Given the description of an element on the screen output the (x, y) to click on. 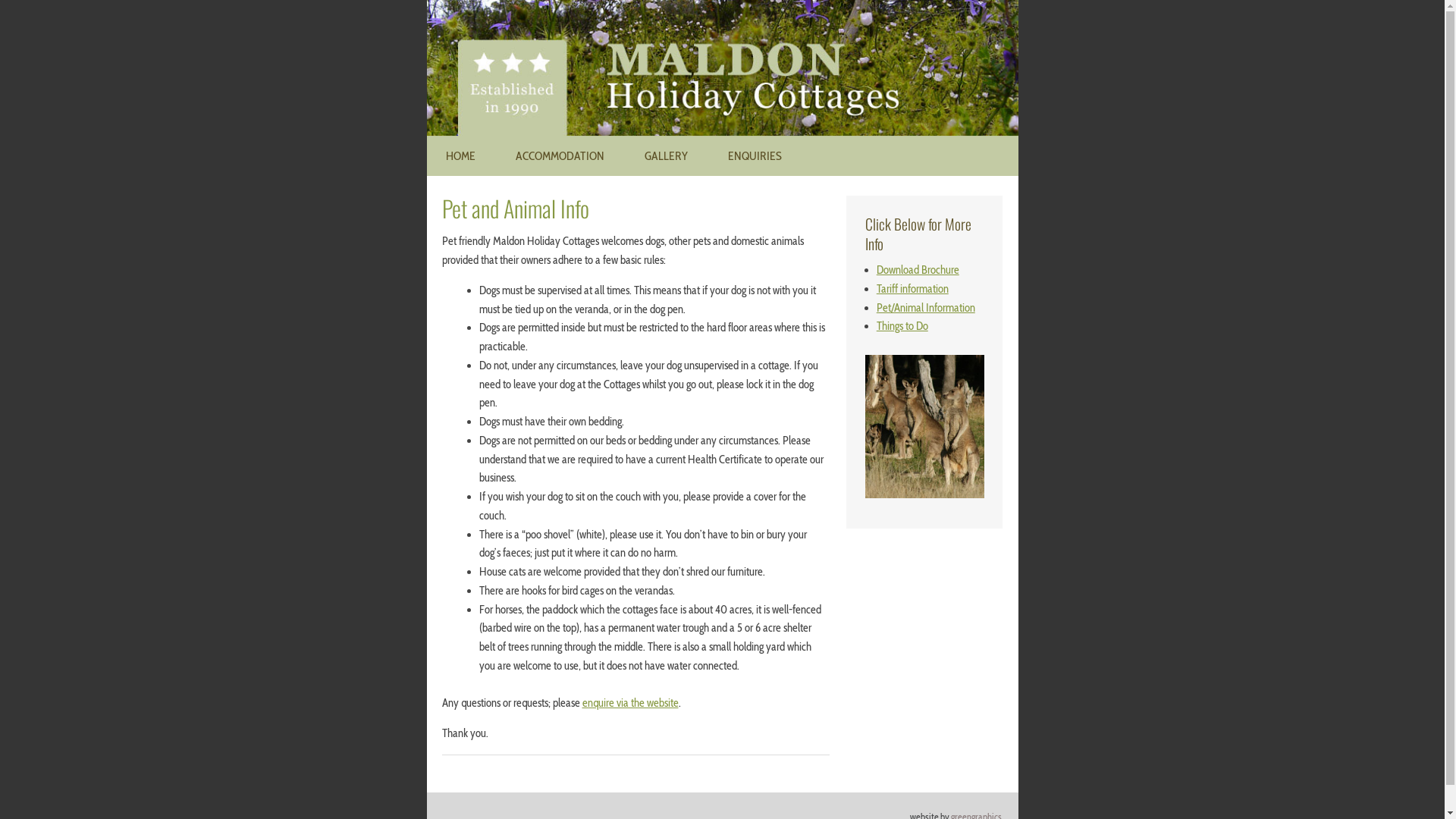
HOME Element type: text (460, 155)
ACCOMMODATION Element type: text (559, 155)
Download Brochure Element type: text (917, 269)
Things to Do Element type: text (902, 325)
enquire via the website Element type: text (630, 702)
Pet/Animal Information Element type: text (925, 307)
Tariff information Element type: text (912, 288)
GALLERY Element type: text (665, 155)
ENQUIRIES Element type: text (754, 155)
